Given the description of an element on the screen output the (x, y) to click on. 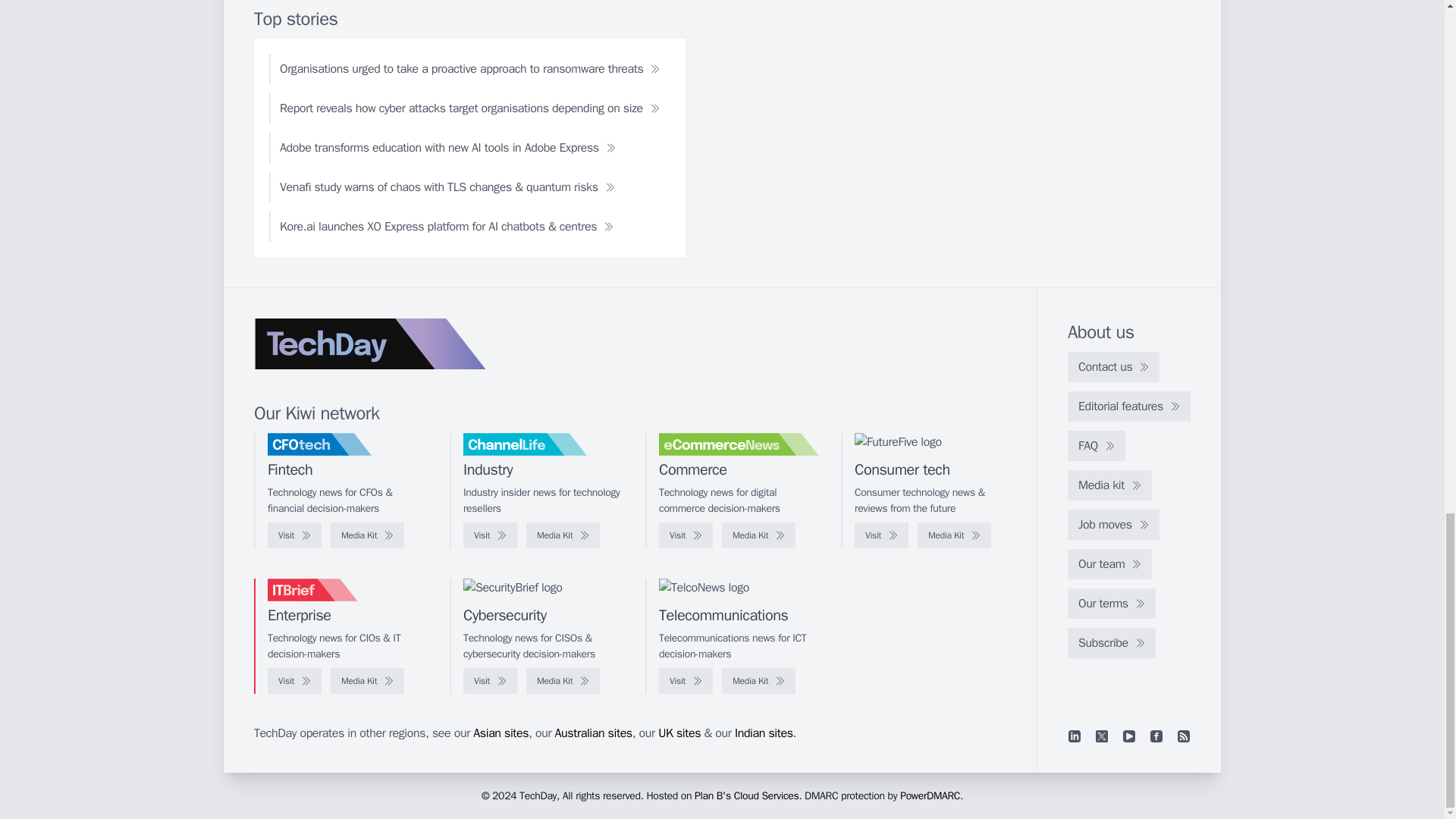
Visit (686, 534)
Visit (489, 534)
Media Kit (954, 534)
Visit (294, 534)
Media Kit (758, 534)
Media Kit (562, 534)
Media Kit (367, 534)
Visit (881, 534)
